Given the description of an element on the screen output the (x, y) to click on. 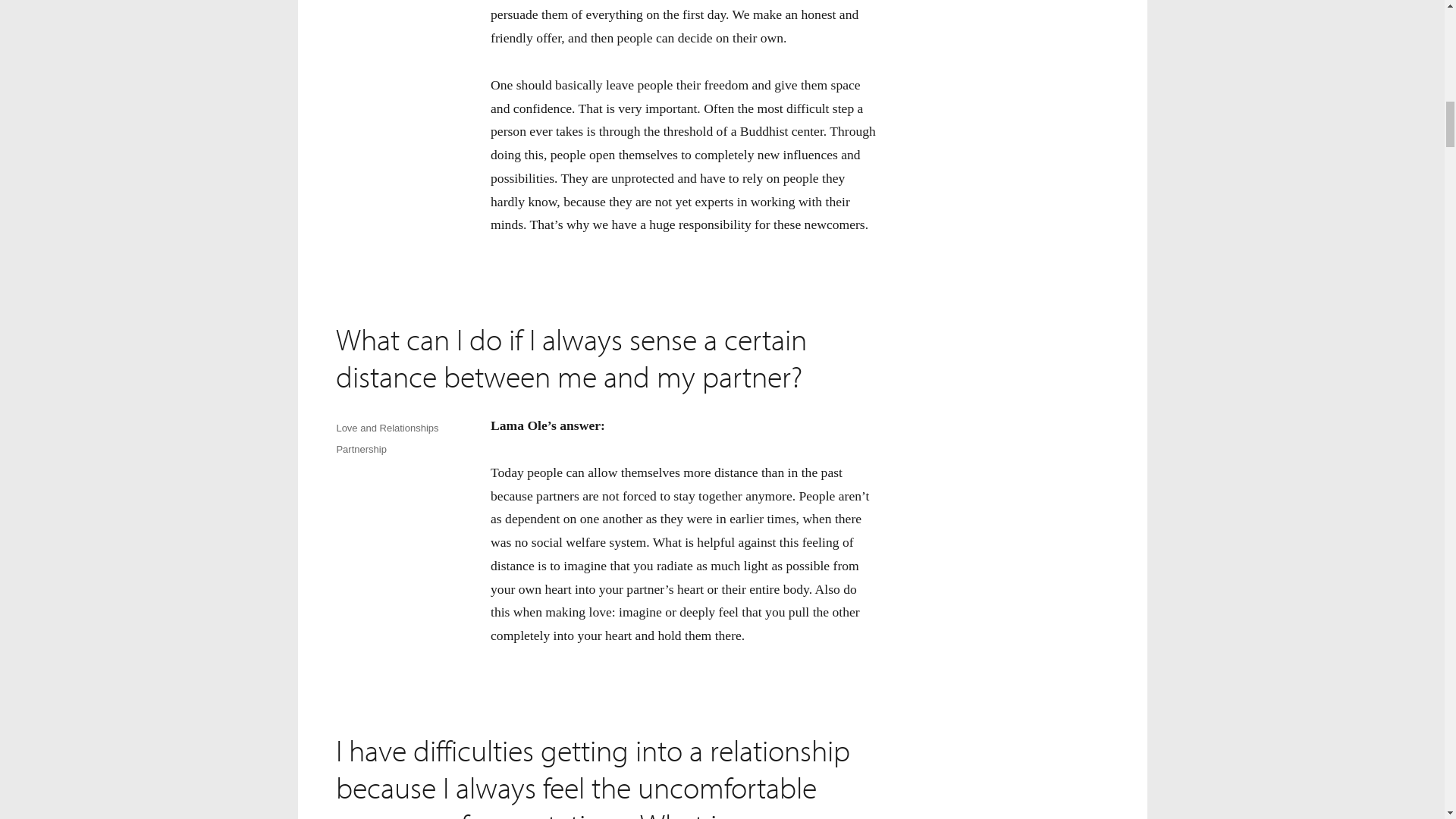
Partnership (360, 449)
Love and Relationships (387, 428)
